Given the description of an element on the screen output the (x, y) to click on. 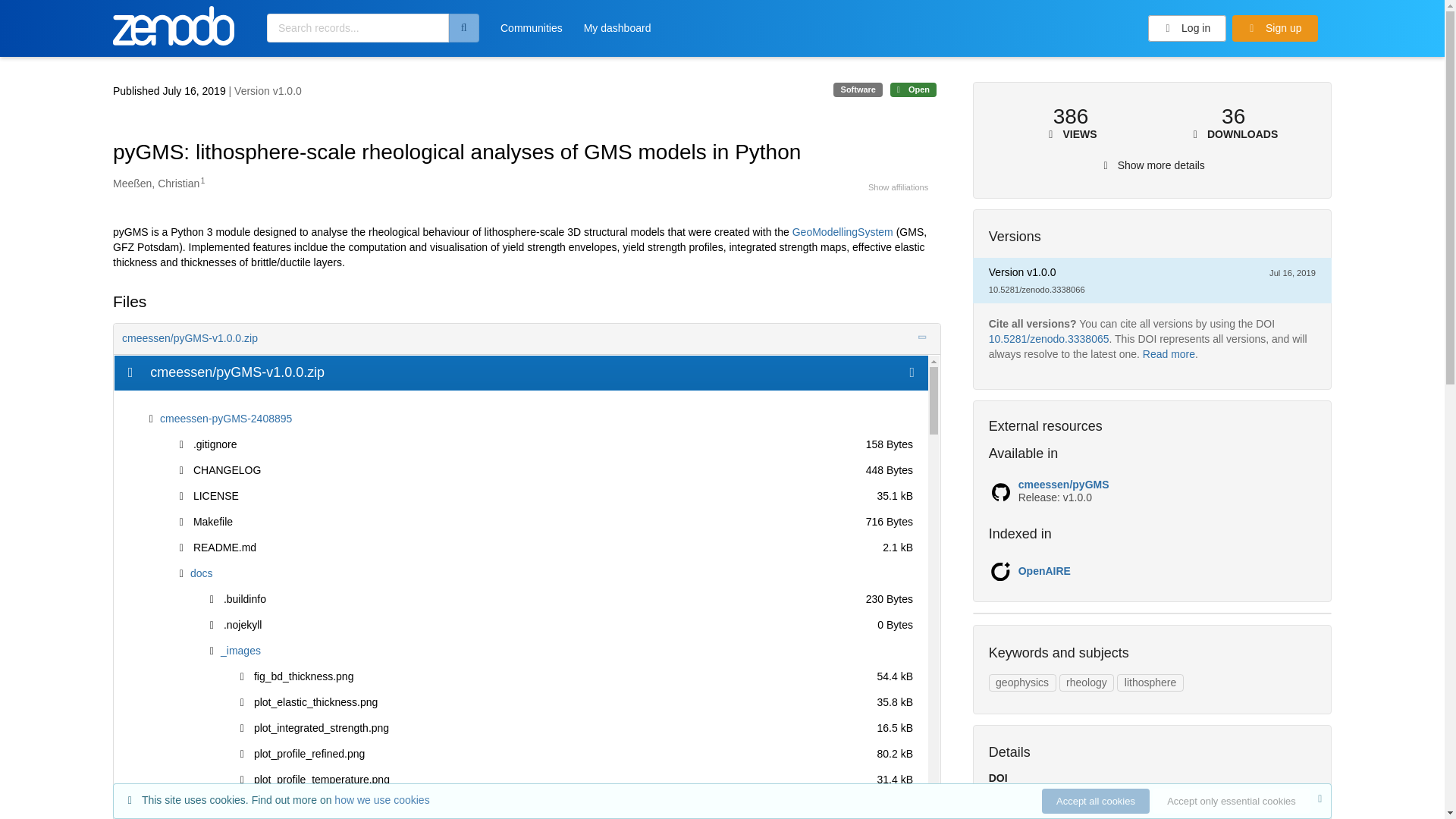
Search results for lithosphere (1149, 683)
Publication date (170, 91)
My dashboard (617, 32)
Read more (1168, 354)
Search results for rheology (1086, 683)
Show affiliations (898, 187)
geophysics (1022, 683)
Log in (1187, 28)
GeoModellingSystem (842, 232)
Sign up (1274, 28)
Communities (531, 32)
Search results for geophysics (1022, 683)
rheology (1086, 683)
Skip to main (49, 17)
